Given the description of an element on the screen output the (x, y) to click on. 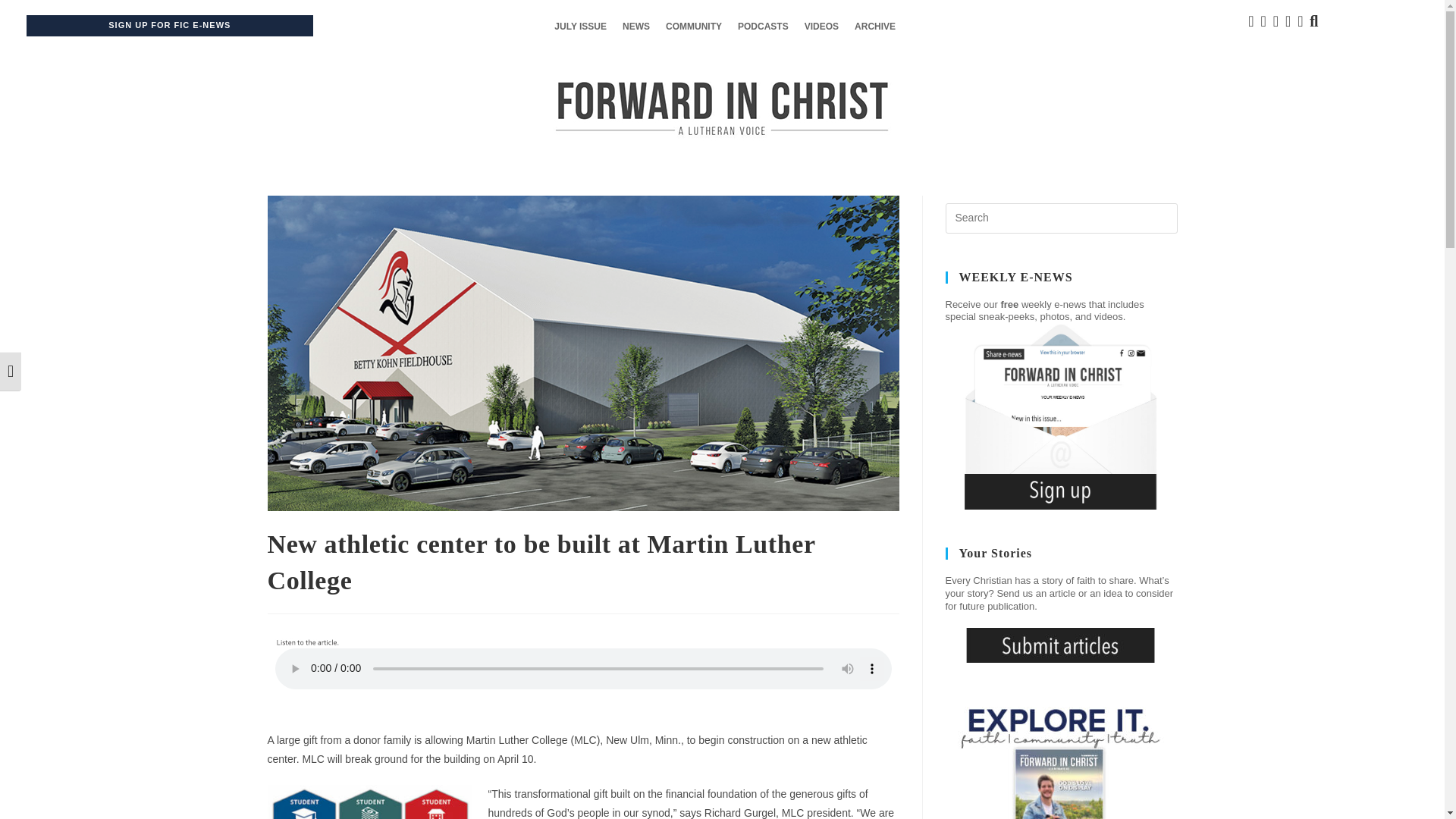
SIGN UP FOR FIC E-NEWS (168, 25)
JULY ISSUE (580, 27)
COMMUNITY (693, 27)
ARCHIVE (874, 27)
VIDEOS (820, 27)
NEWS (636, 27)
Toggle Font size (10, 371)
PODCASTS (763, 27)
